Given the description of an element on the screen output the (x, y) to click on. 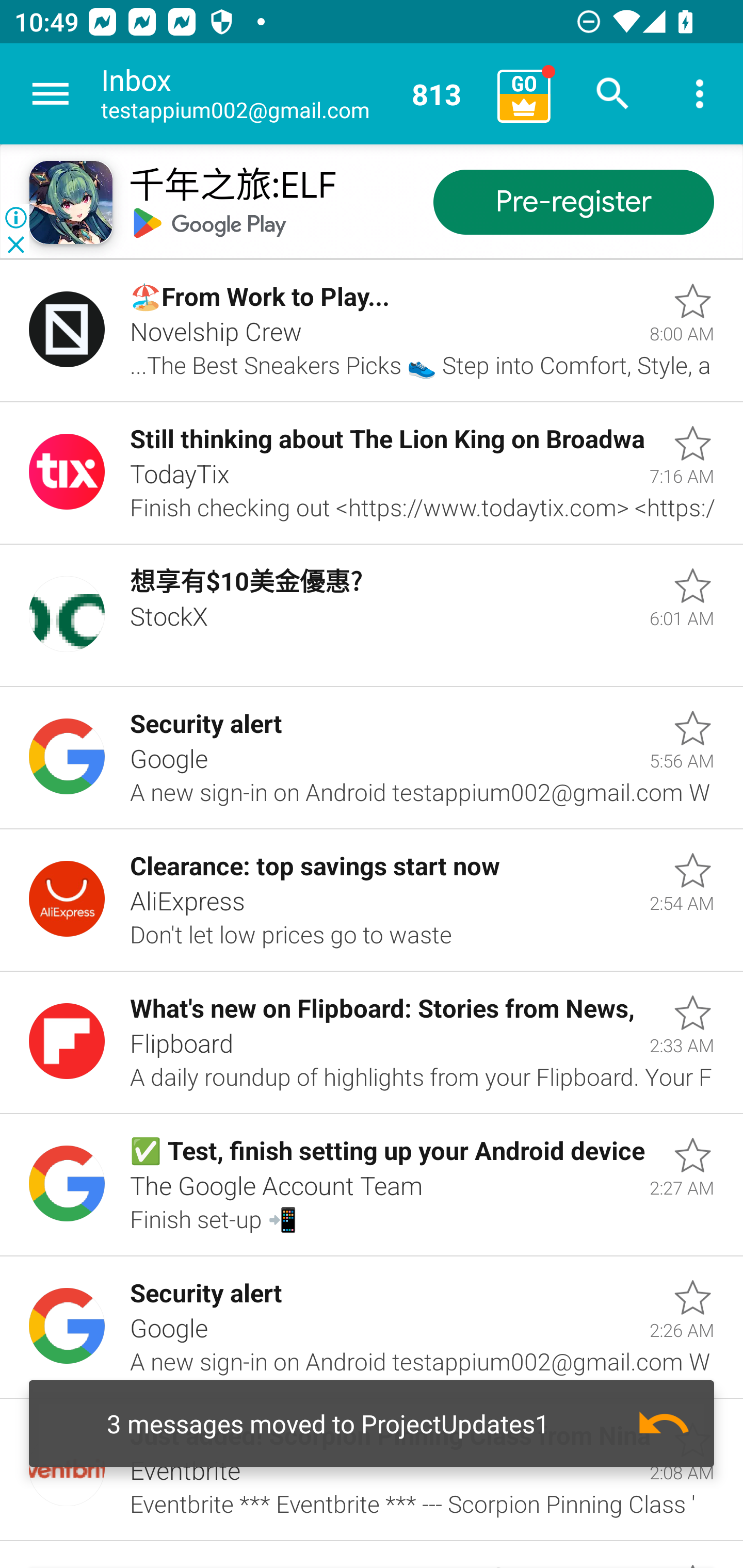
Navigate up (50, 93)
Inbox testappium002@gmail.com 813 (291, 93)
Search (612, 93)
More options (699, 93)
千年之旅:ELF (232, 186)
Pre-register (573, 202)
Unread, 想享有$10美金優惠?, StockX, 6:01 AM (371, 615)
Undo 3 messages moved to ProjectUpdates1 (371, 1423)
